Given the description of an element on the screen output the (x, y) to click on. 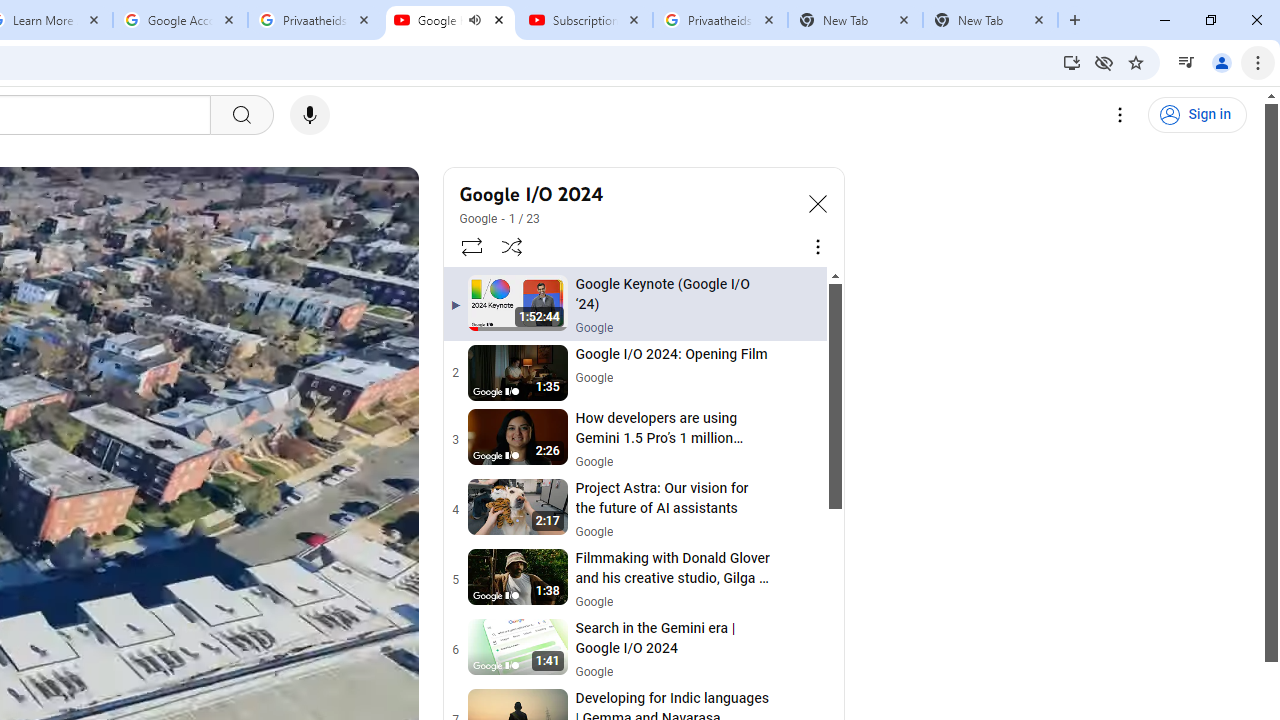
Google I/O 2024 (625, 194)
Collapse (817, 202)
Shuffle playlist (511, 246)
New Tab (990, 20)
Subscriptions - YouTube (585, 20)
